Given the description of an element on the screen output the (x, y) to click on. 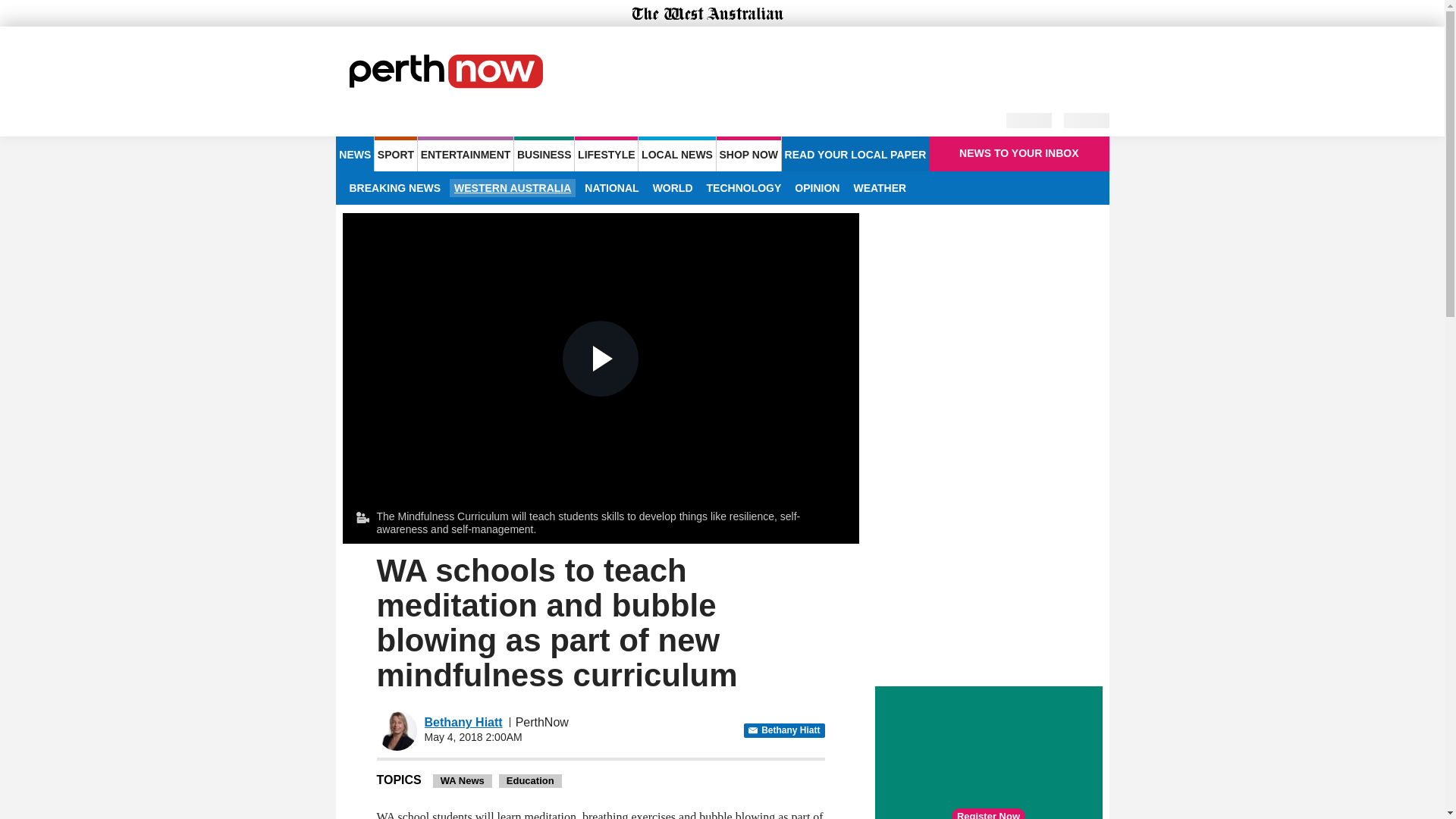
BUSINESS (543, 153)
NEWS (354, 153)
ENTERTAINMENT (465, 153)
SPORT (395, 153)
Play Video (600, 358)
